Given the description of an element on the screen output the (x, y) to click on. 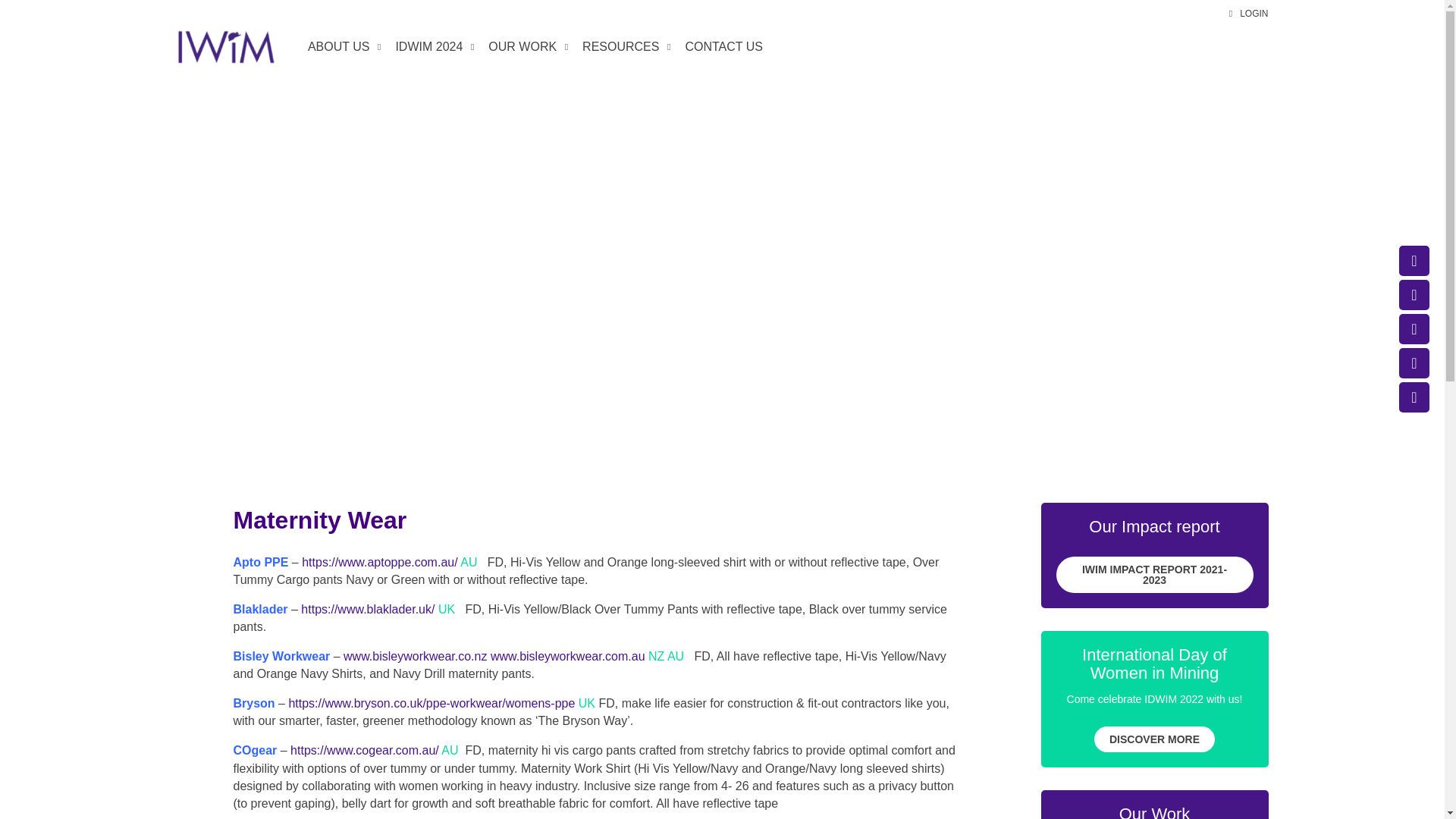
OUR WORK (526, 46)
RESOURCES (624, 46)
CONTACT US (723, 46)
IDWIM 2024 (432, 46)
ABOUT US (342, 46)
IWiM Impact Report 2021-2023 (1153, 574)
LOGIN (1248, 13)
